Given the description of an element on the screen output the (x, y) to click on. 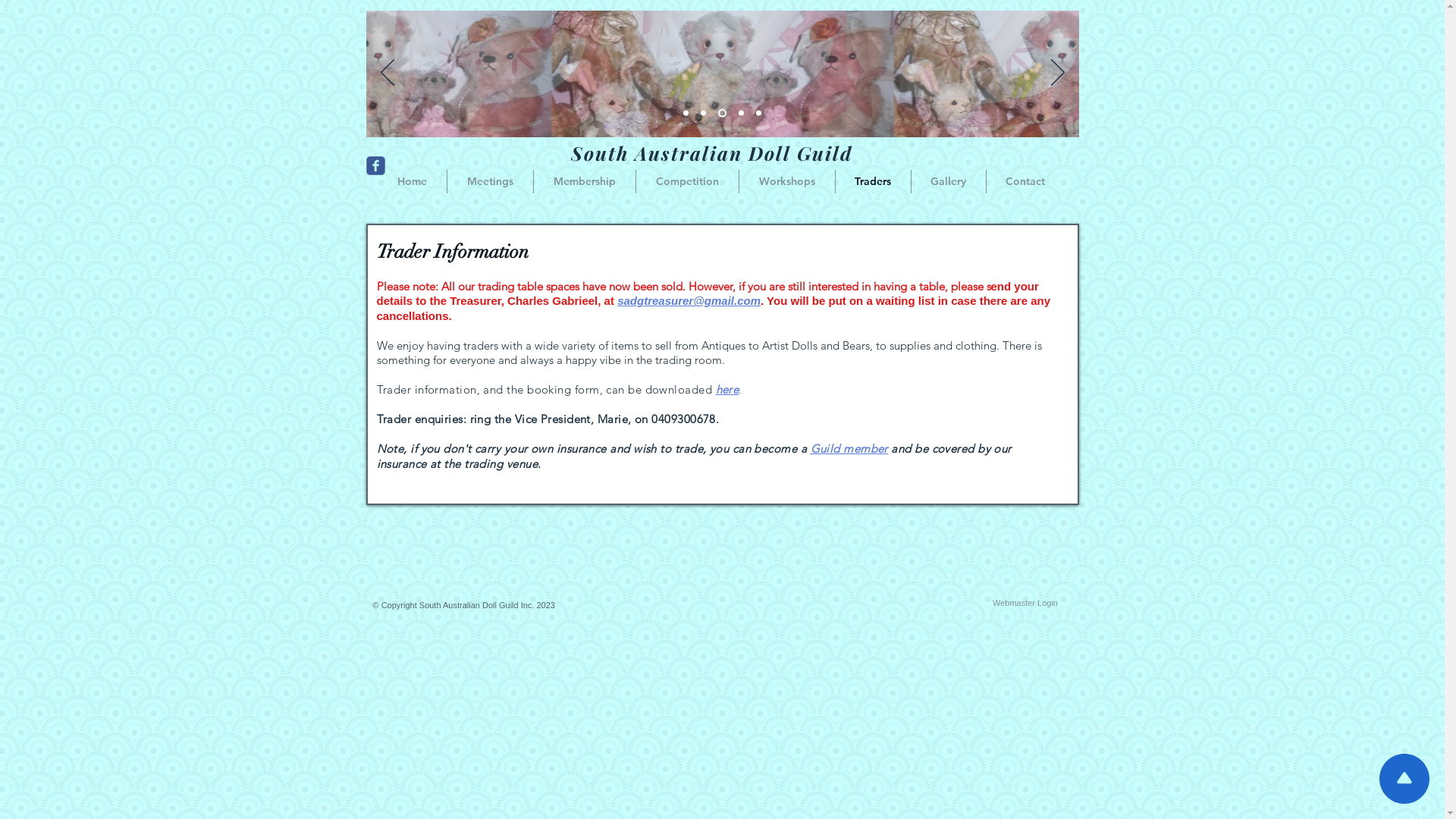
Webmaster Login Element type: text (1025, 602)
Meetings Element type: text (490, 181)
Home Element type: text (411, 181)
Gallery Element type: text (948, 181)
Workshops Element type: text (786, 181)
Guild member Element type: text (849, 448)
Membership Element type: text (584, 181)
here Element type: text (727, 389)
Contact Element type: text (1024, 181)
sadgtreasurer@gmail.com Element type: text (688, 300)
Traders Element type: text (872, 181)
Competition Element type: text (686, 181)
